Given the description of an element on the screen output the (x, y) to click on. 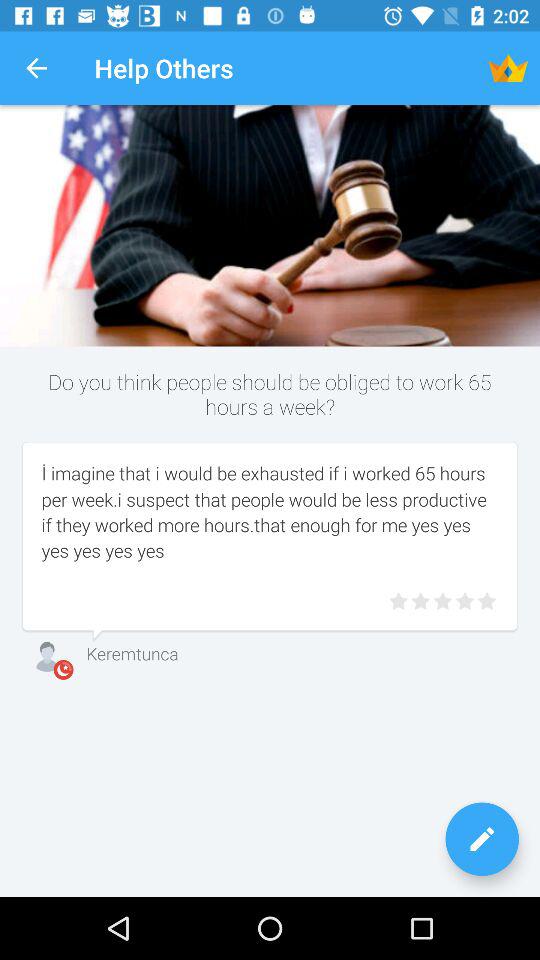
edit input (482, 839)
